Given the description of an element on the screen output the (x, y) to click on. 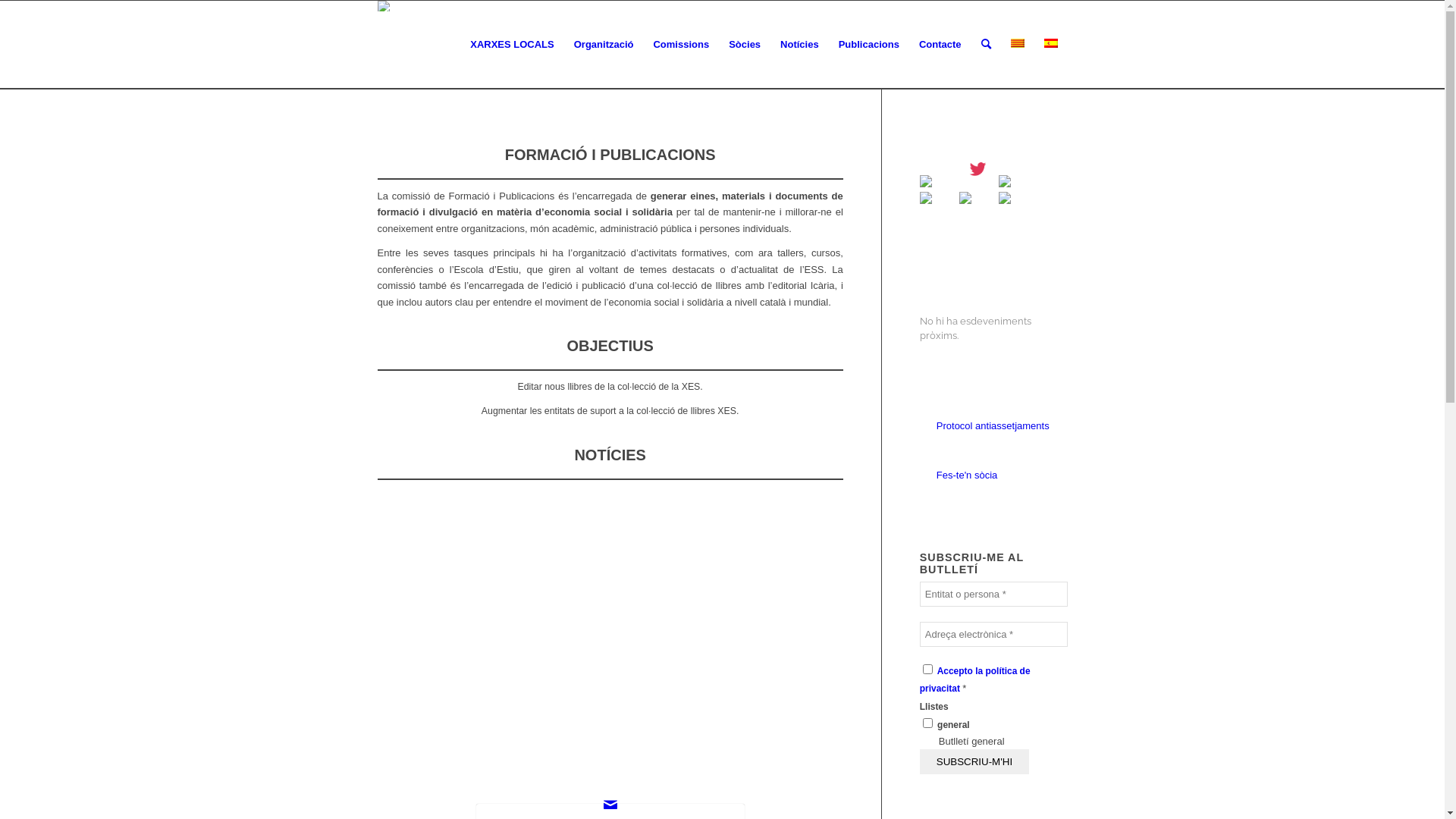
Publicacions Element type: text (868, 43)
SUBSCRIU-M'HI Element type: text (974, 761)
CAT Element type: hover (1016, 42)
Protocol antiassetjaments Element type: text (992, 425)
AGENDA Element type: text (945, 260)
CAST Element type: hover (1050, 42)
Contacte Element type: text (940, 43)
XARXES LOCALS Element type: text (512, 43)
logotip-xes Element type: hover (393, 5)
Comissions Element type: text (680, 43)
